Given the description of an element on the screen output the (x, y) to click on. 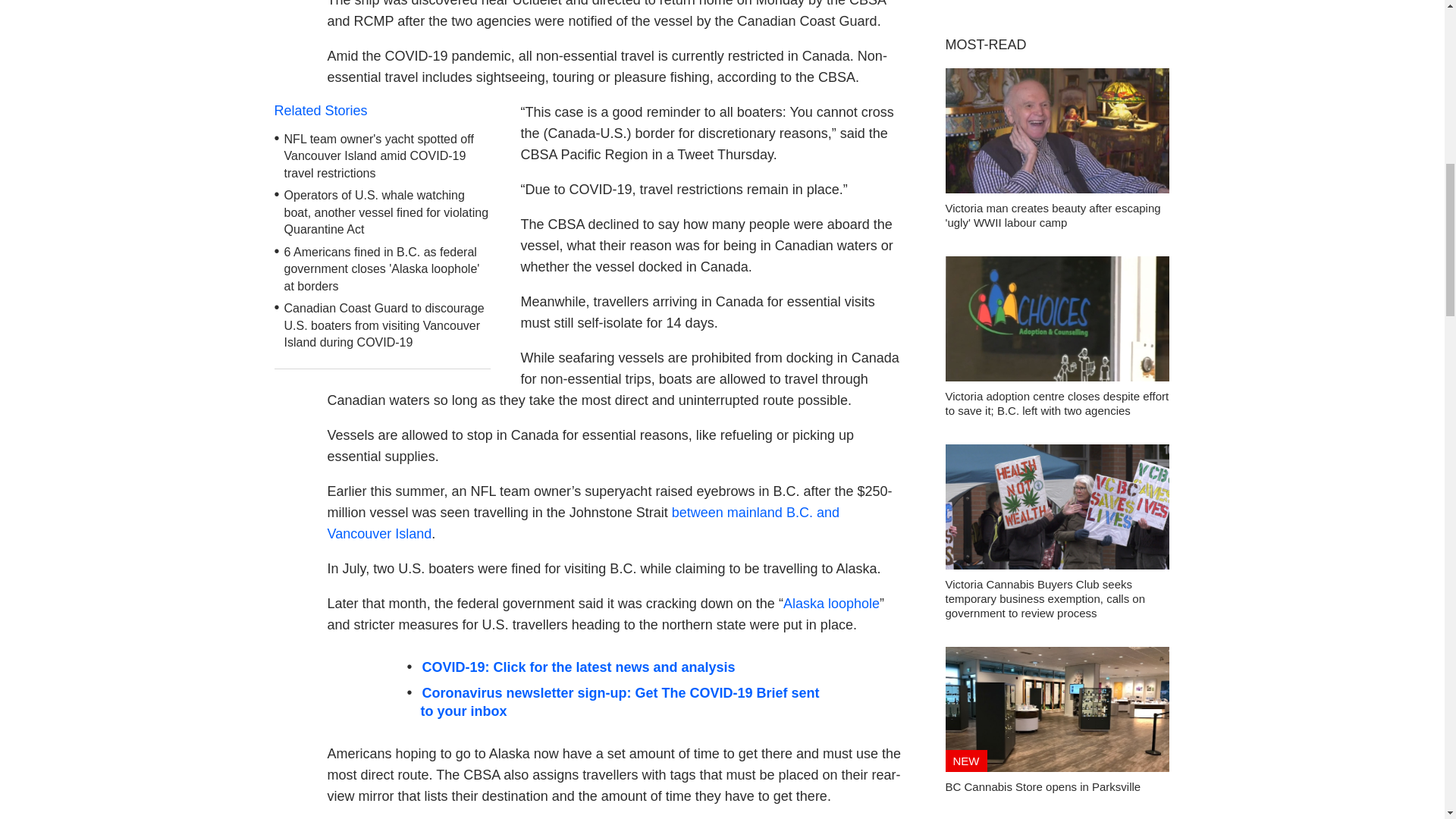
COVID-19: Click for the latest news and analysis (578, 667)
between mainland B.C. and Vancouver Island (583, 523)
Alaska loophole (831, 603)
